Given the description of an element on the screen output the (x, y) to click on. 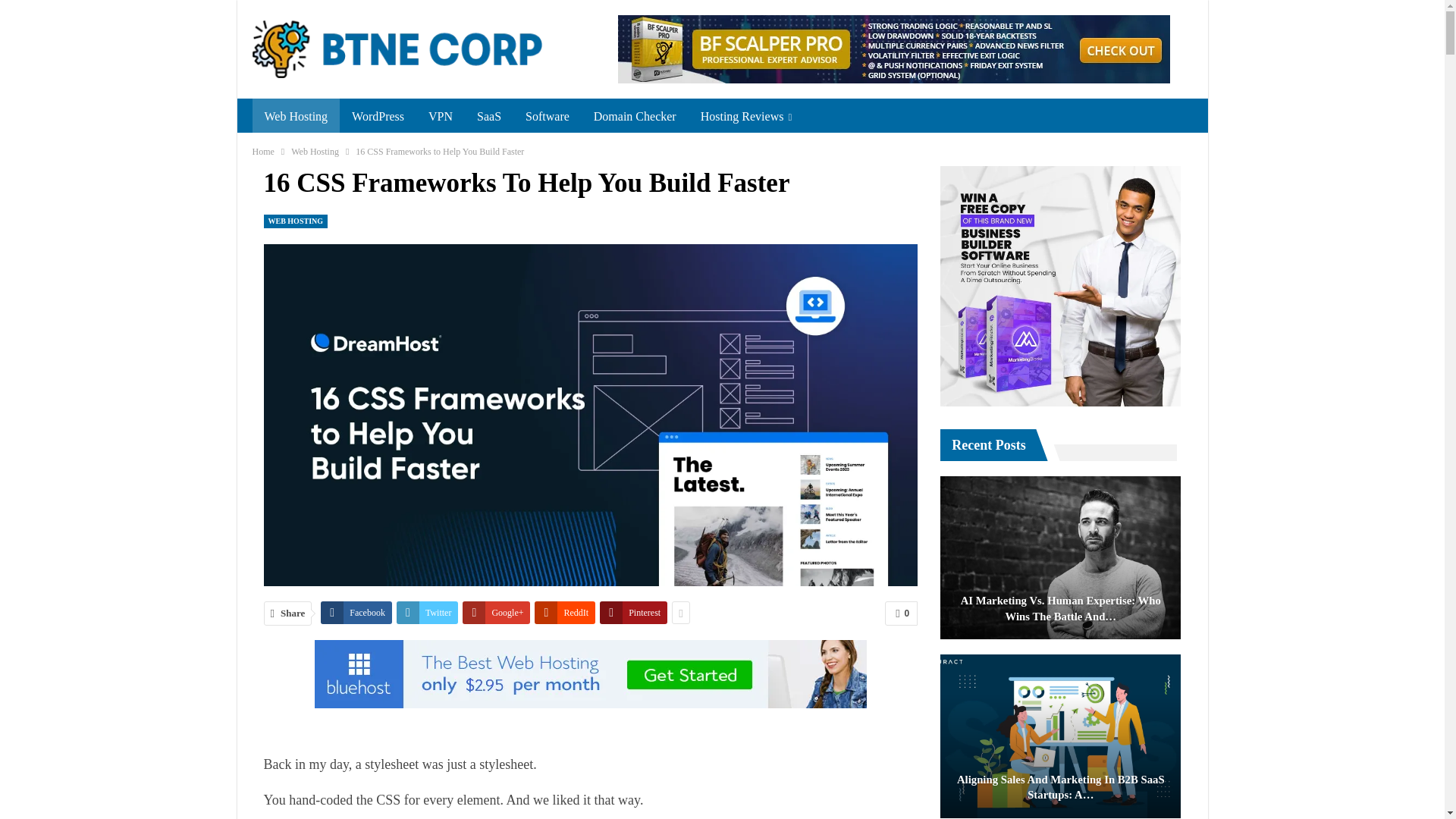
Web Hosting (295, 116)
0 (901, 613)
WEB HOSTING (296, 220)
Software (546, 116)
Pinterest (632, 612)
Facebook (355, 612)
SaaS (488, 116)
Web Hosting (315, 151)
Home (262, 151)
ReddIt (564, 612)
VPN (440, 116)
WordPress (377, 116)
Domain Checker (634, 116)
Twitter (427, 612)
